Given the description of an element on the screen output the (x, y) to click on. 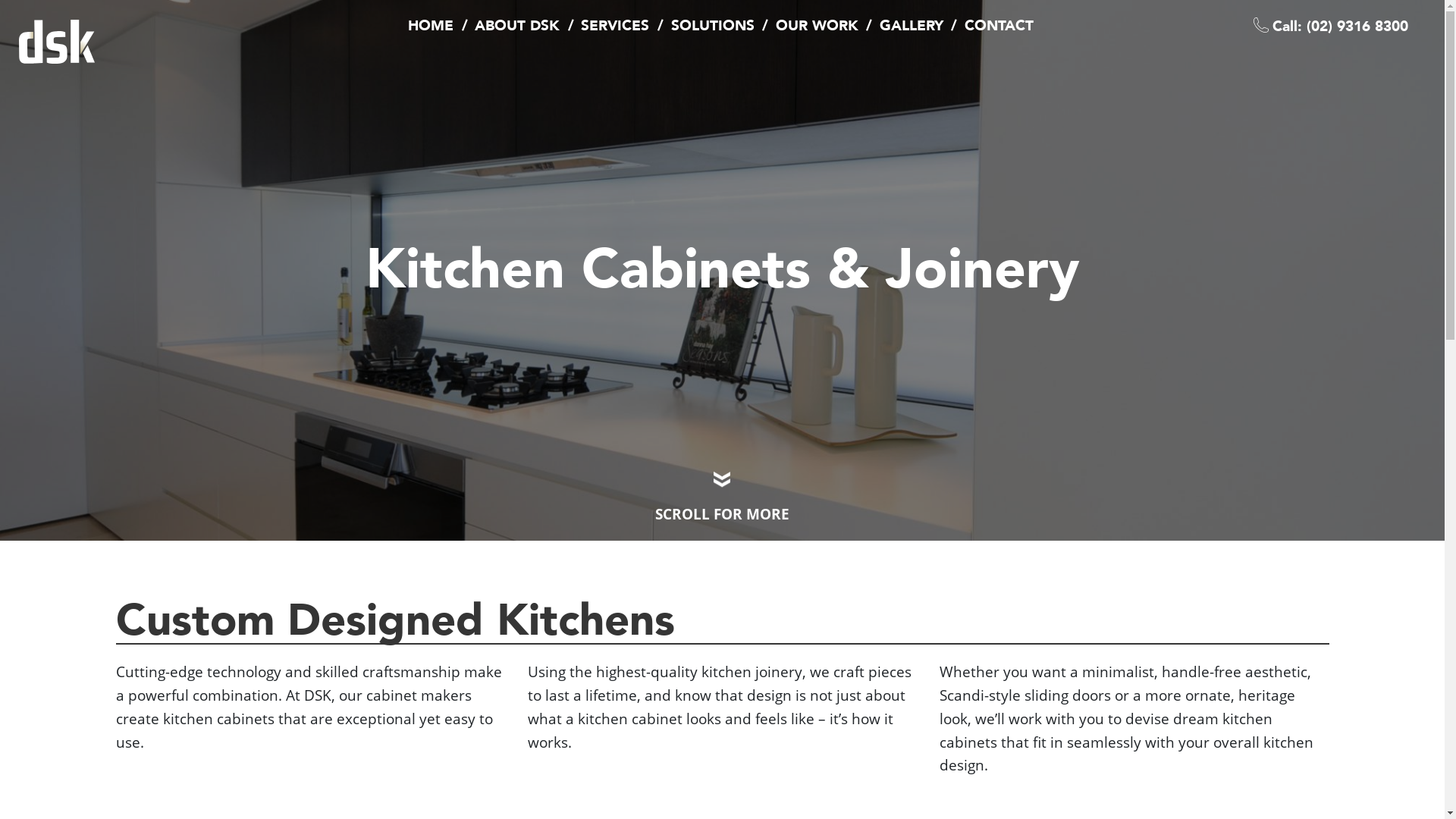
SERVICES Element type: text (614, 25)
Call: (02) 9316 8300 Element type: text (1340, 26)
HOME Element type: text (430, 25)
OUR WORK Element type: text (816, 25)
ABOUT DSK Element type: text (516, 25)
GALLERY Element type: text (911, 25)
CONTACT Element type: text (998, 25)
SOLUTIONS Element type: text (711, 25)
